Given the description of an element on the screen output the (x, y) to click on. 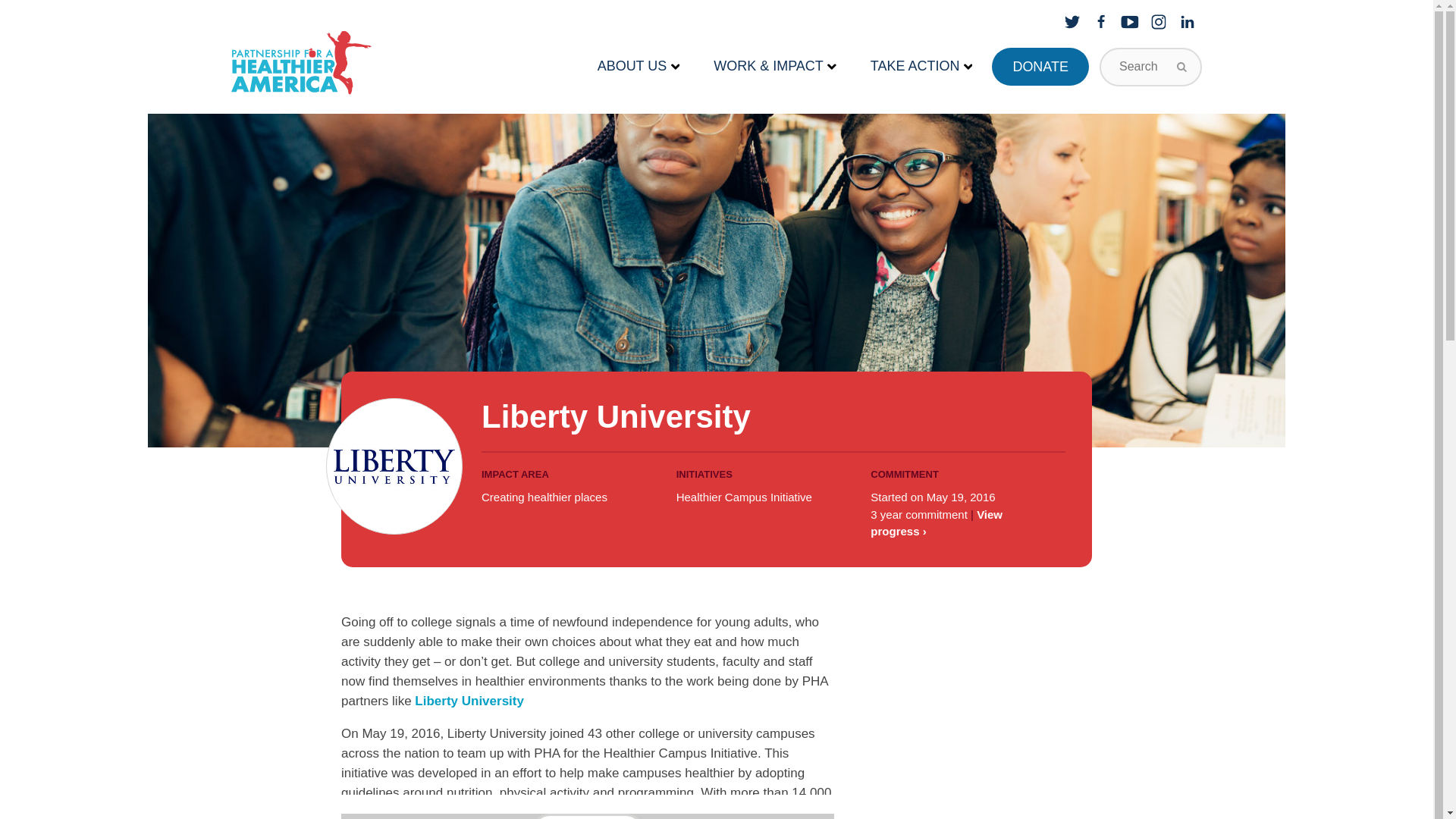
Liberty University (469, 700)
Healthier Campus Initiative (744, 496)
Submit (1184, 66)
TAKE ACTION (921, 66)
Creating healthier places (544, 496)
DONATE (1040, 66)
P.H.A. homepage (301, 63)
ABOUT US (637, 66)
